Given the description of an element on the screen output the (x, y) to click on. 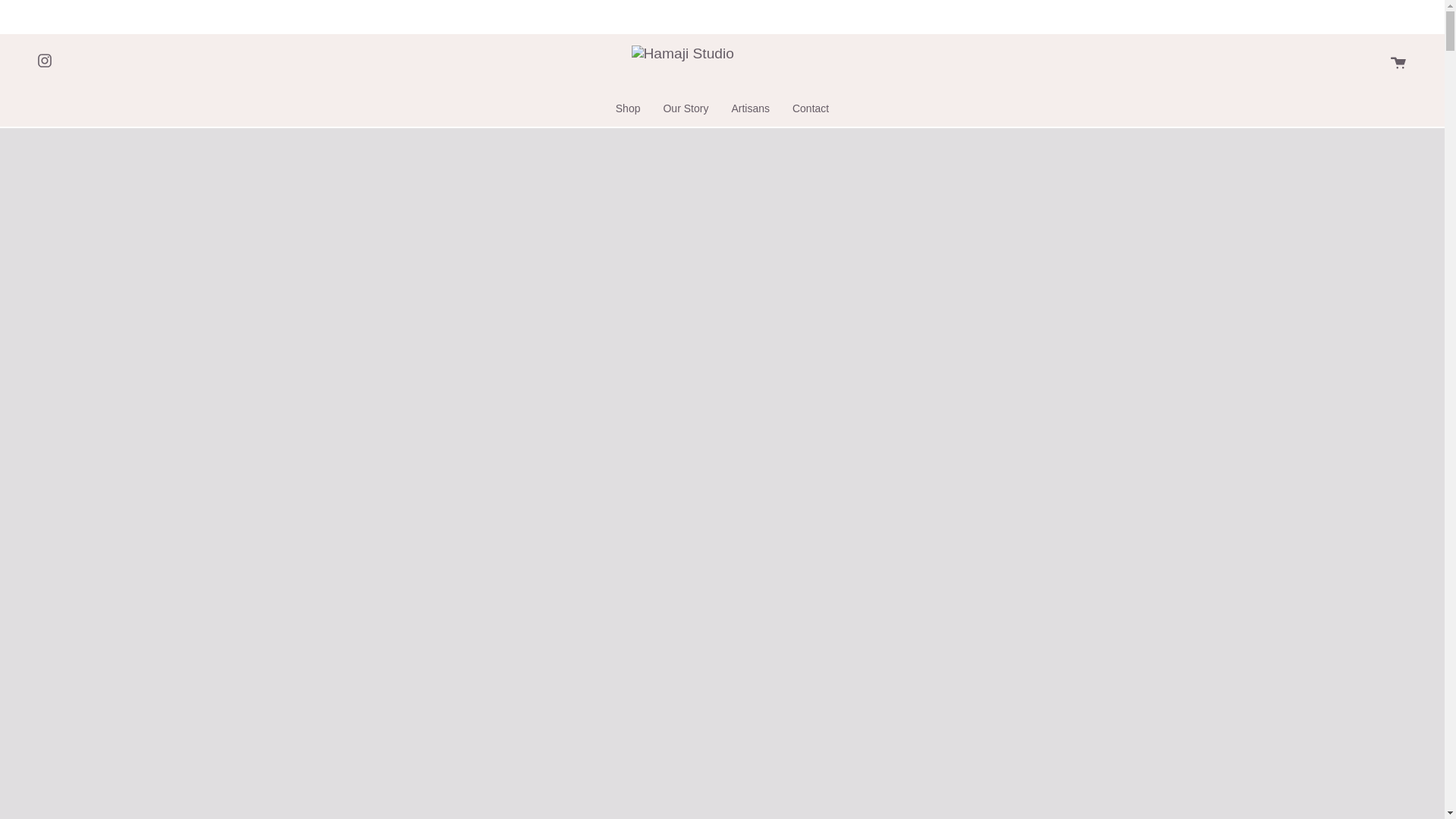
Our Story (684, 108)
Artisans (749, 108)
Shop (628, 108)
Contact (810, 108)
